Given the description of an element on the screen output the (x, y) to click on. 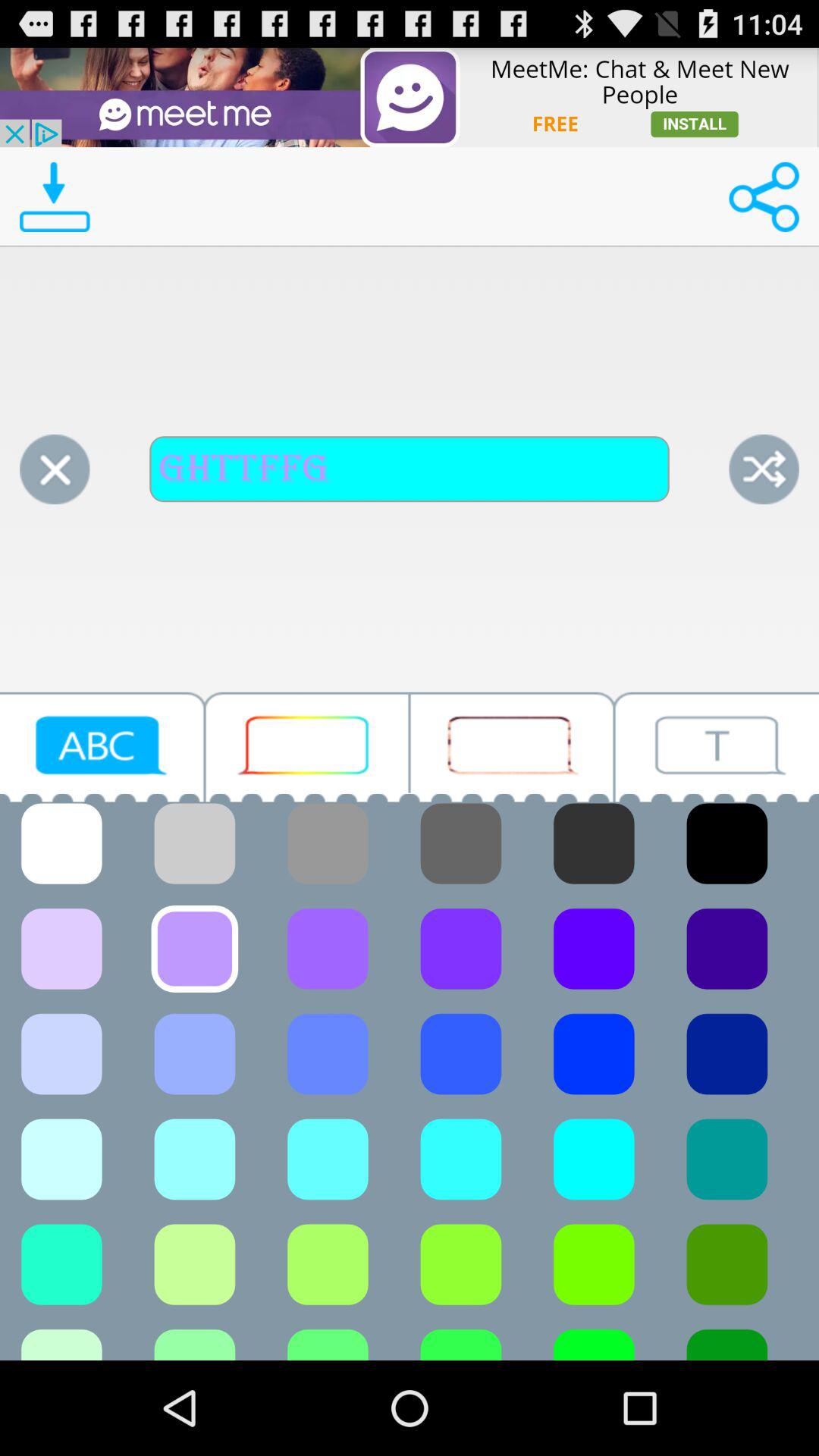
share this page (764, 197)
